Given the description of an element on the screen output the (x, y) to click on. 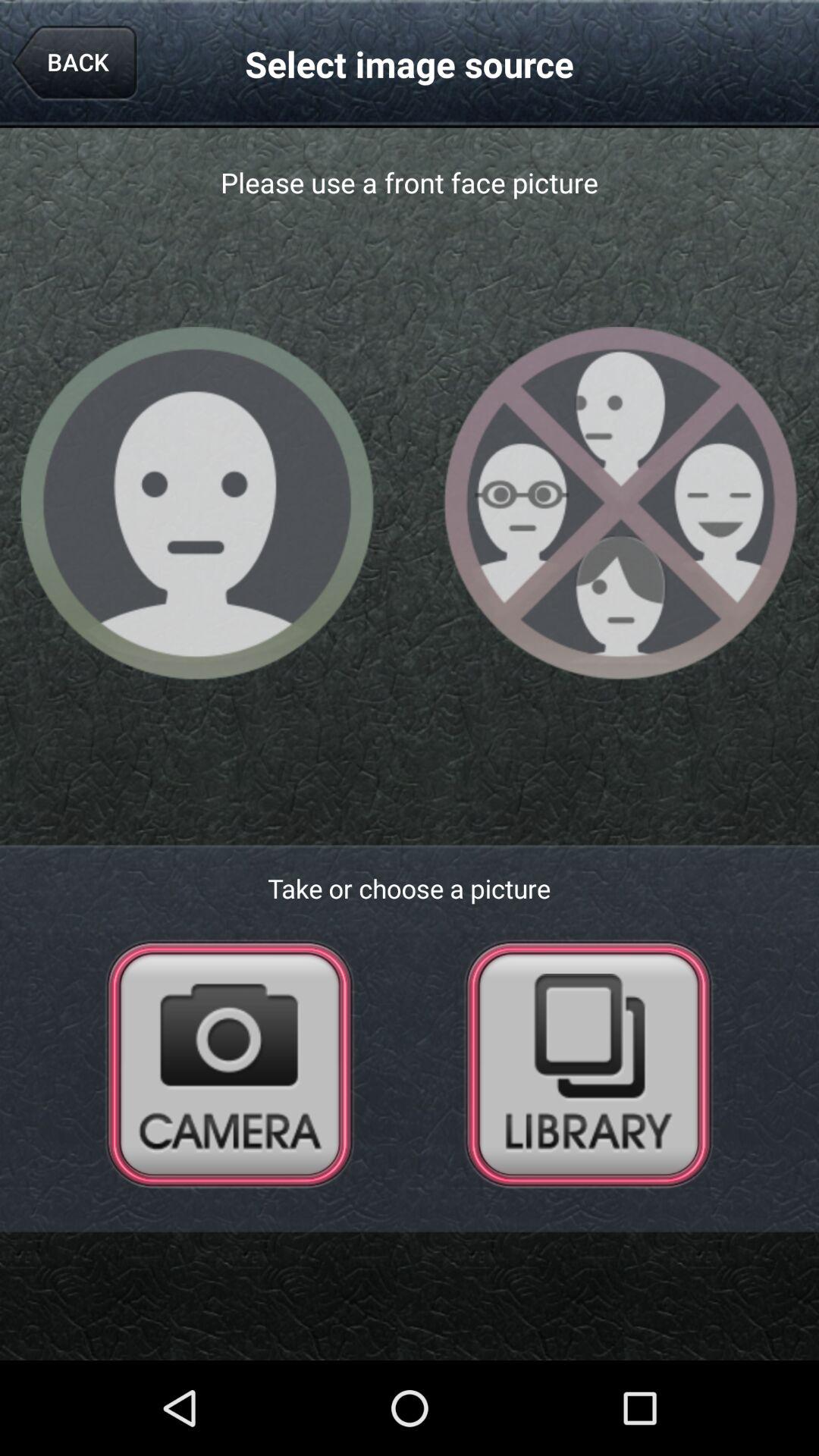
press icon to the left of the select image source app (74, 63)
